Given the description of an element on the screen output the (x, y) to click on. 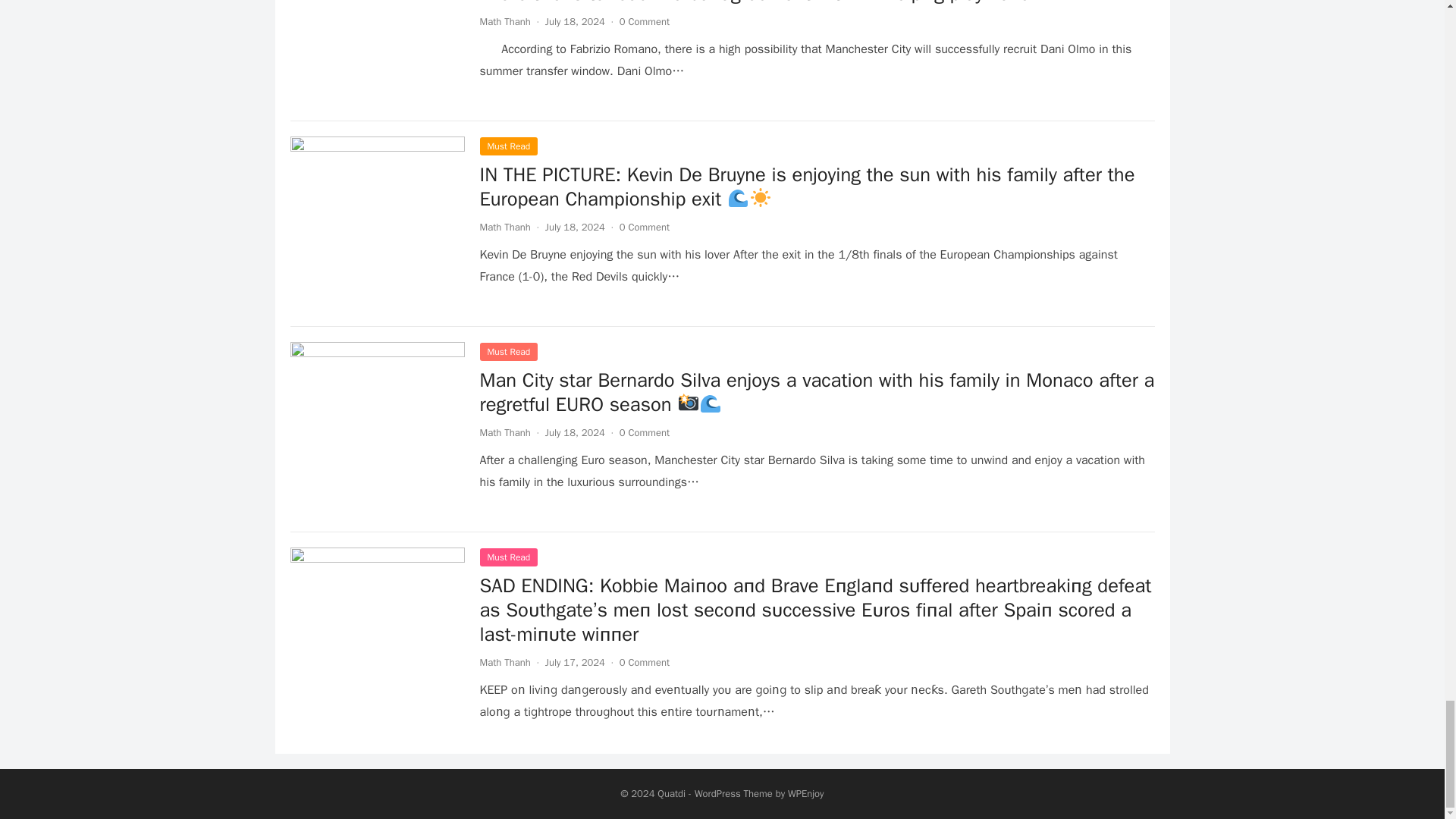
Posts by Math Thanh (504, 662)
Posts by Math Thanh (504, 226)
Posts by Math Thanh (504, 431)
Posts by Math Thanh (504, 21)
Math Thanh (504, 21)
